Given the description of an element on the screen output the (x, y) to click on. 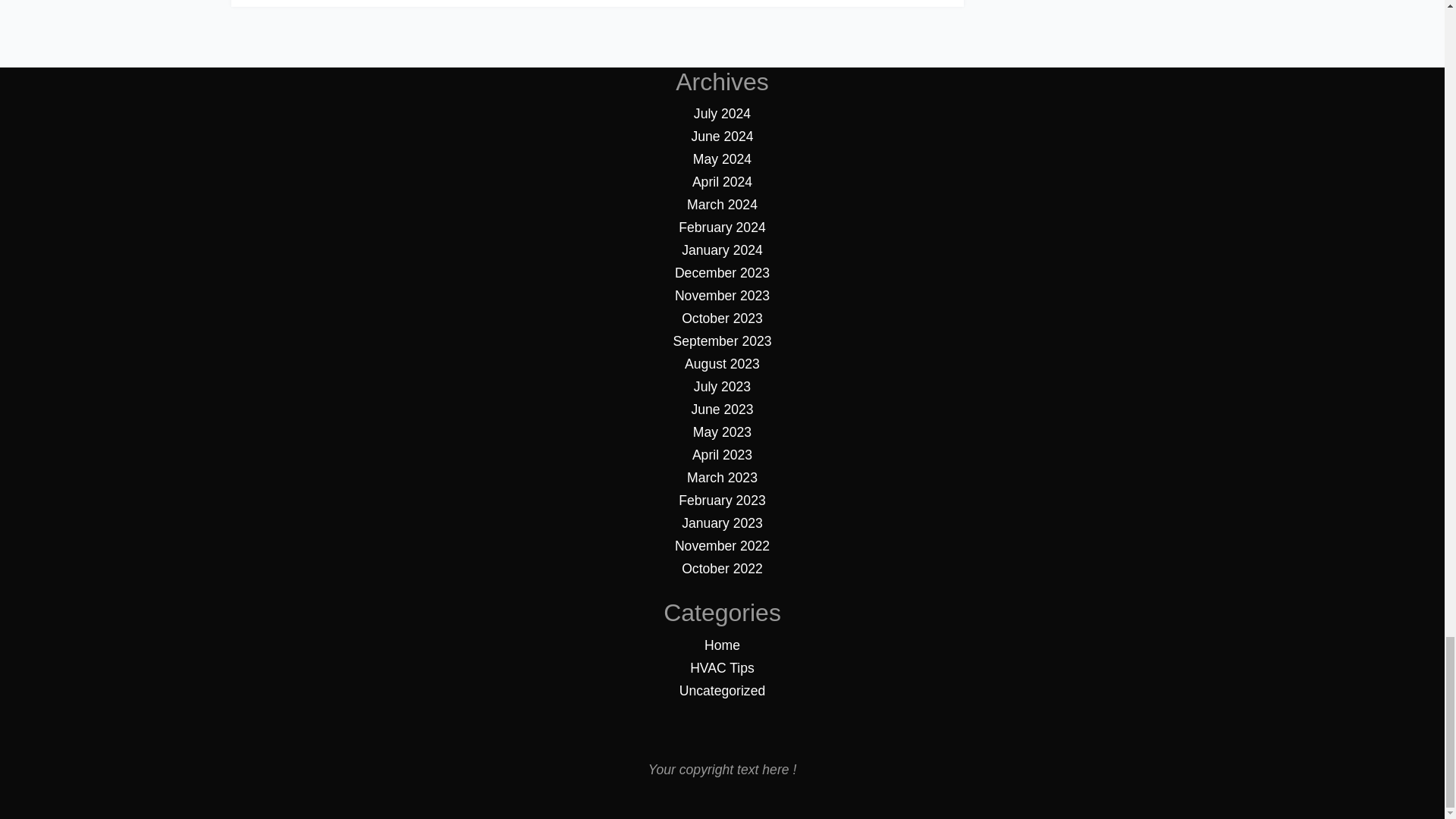
May 2024 (722, 159)
April 2024 (722, 181)
July 2024 (722, 113)
June 2024 (721, 136)
March 2024 (722, 204)
